Given the description of an element on the screen output the (x, y) to click on. 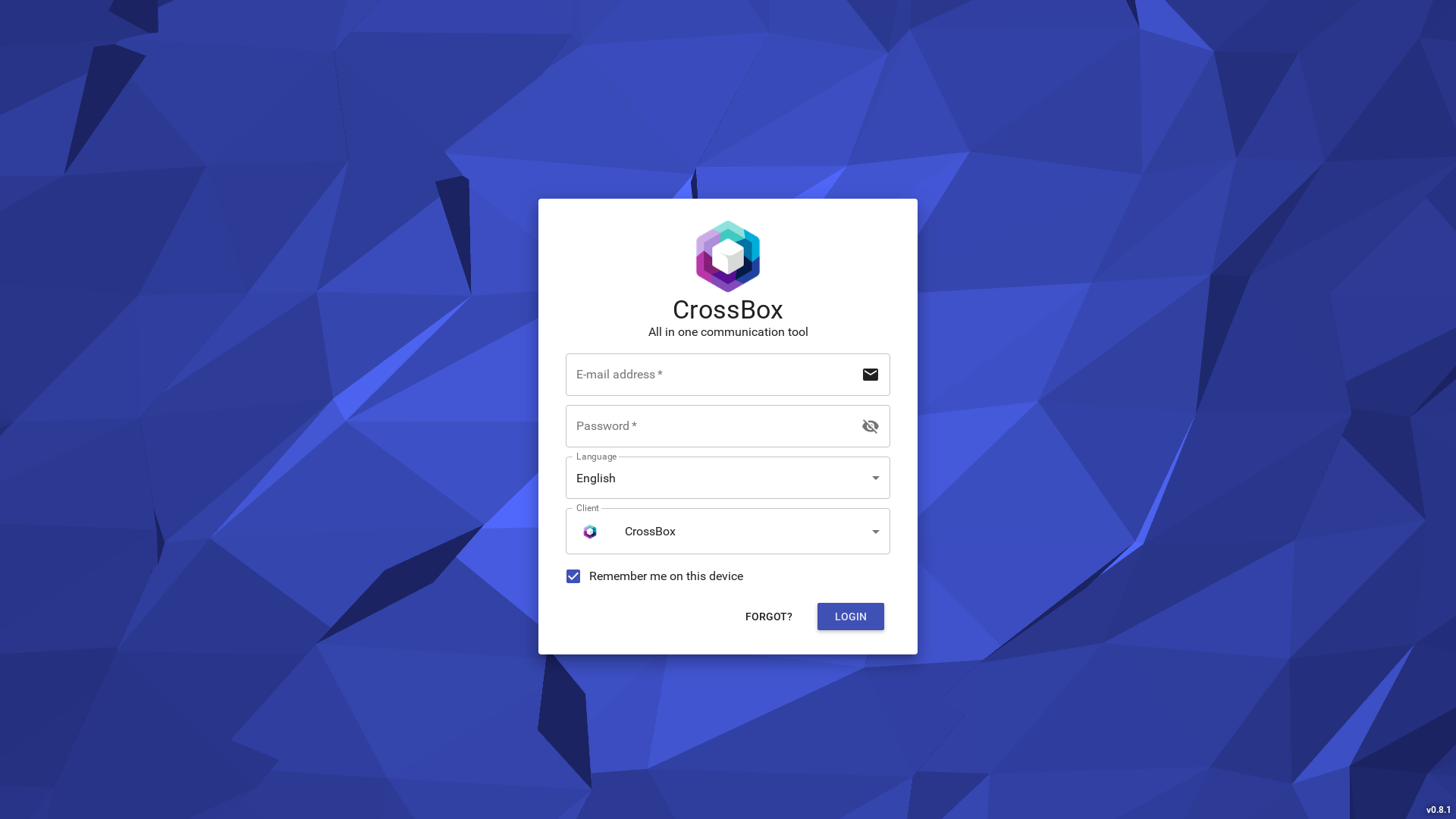
LOGIN Element type: text (850, 616)
FORGOT? Element type: text (768, 616)
visibility_off Element type: text (870, 425)
